Given the description of an element on the screen output the (x, y) to click on. 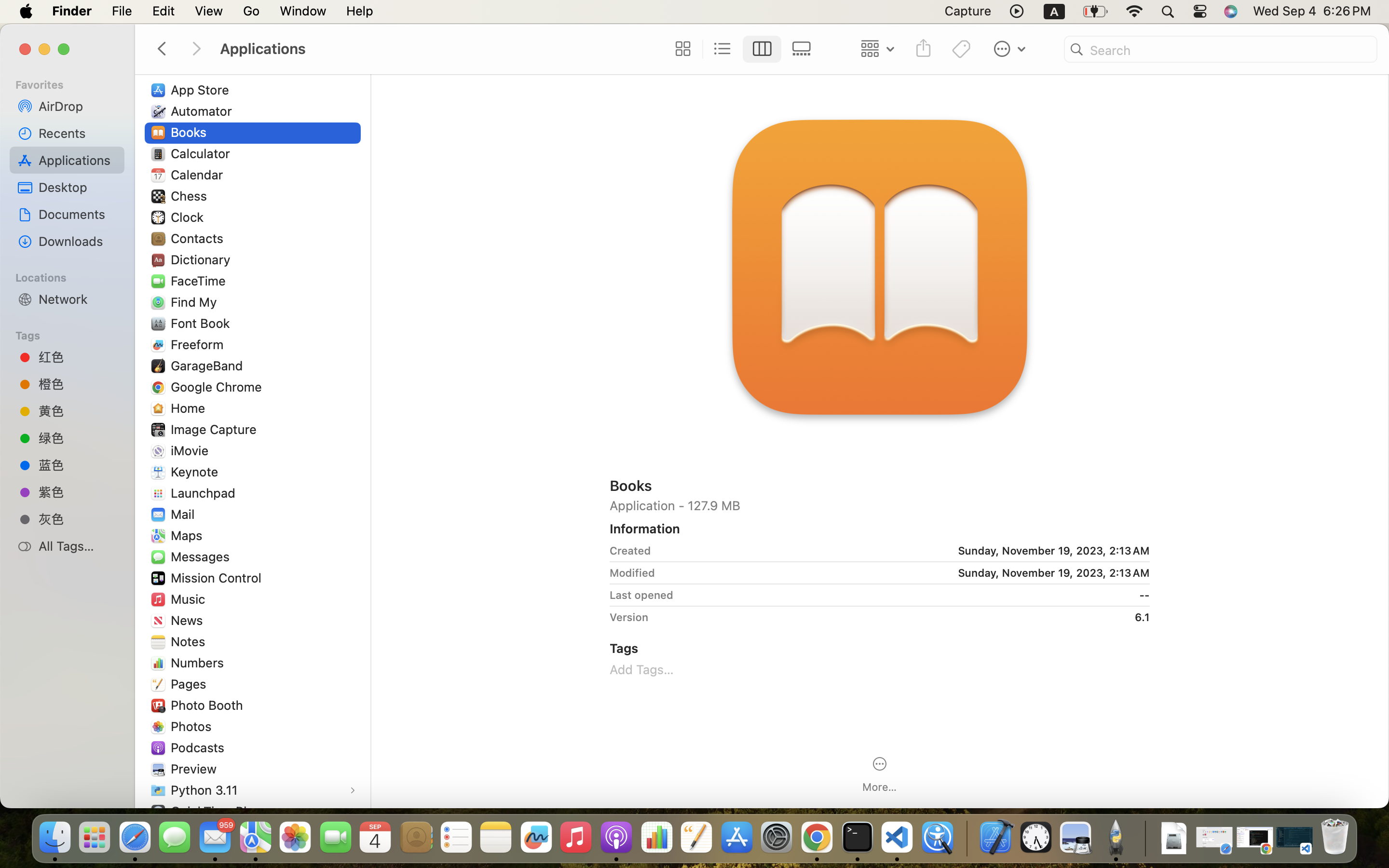
绿色 Element type: AXStaticText (77, 437)
GarageBand Element type: AXTextField (208, 365)
AirDrop Element type: AXStaticText (77, 105)
Preview Element type: AXTextField (195, 768)
Application - 127.9 MB Element type: AXStaticText (879, 505)
